Given the description of an element on the screen output the (x, y) to click on. 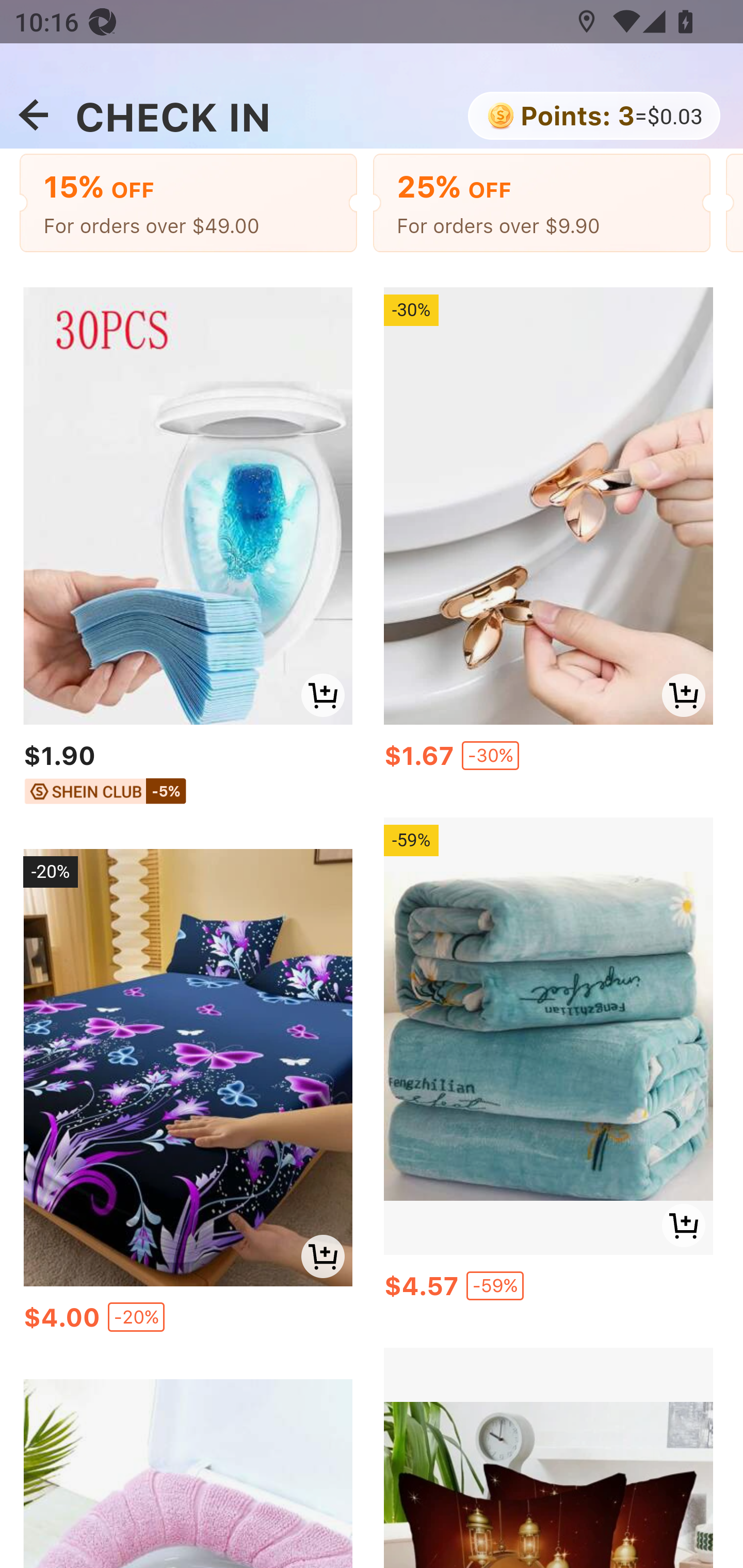
 (33, 115)
Points: 3=$0.03 (592, 116)
$1.90 sui_icon_paidmember_Label@3x-91f33d47f8 -5% (187, 775)
$1.67 -30% (548, 760)
$4.57 -59% (548, 1289)
$4.00 -20% (187, 1321)
